Given the description of an element on the screen output the (x, y) to click on. 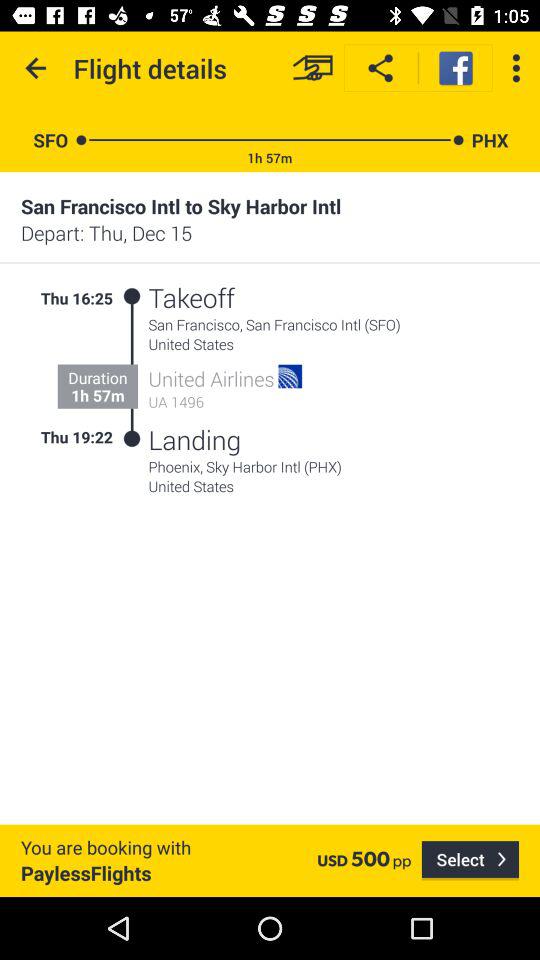
press the icon next to the takeoff item (131, 295)
